Given the description of an element on the screen output the (x, y) to click on. 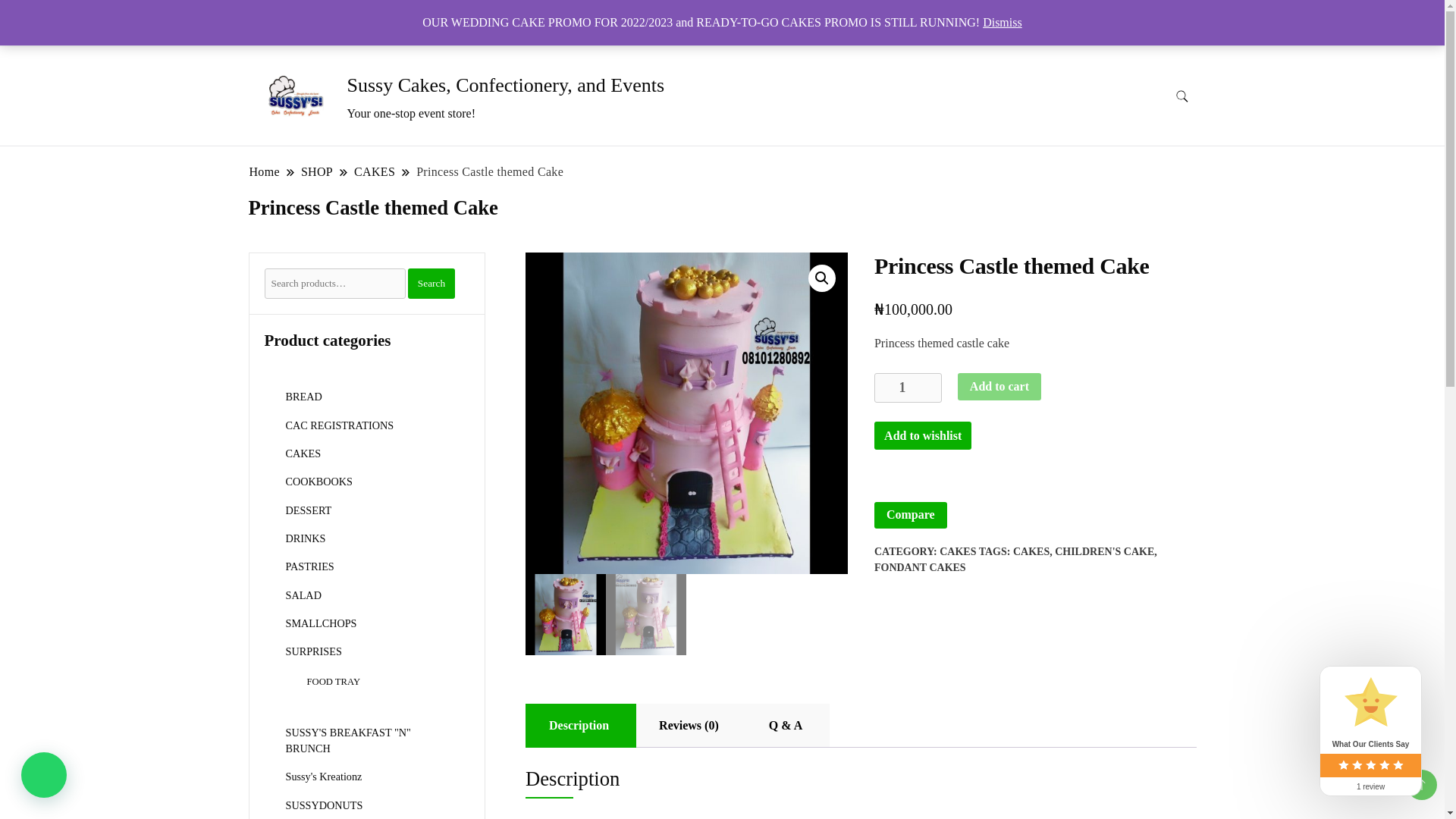
Contact Us (646, 11)
Cart (529, 11)
Home (264, 171)
My account (764, 11)
CAKES (374, 171)
Compare (911, 515)
PayPal (1035, 484)
1 (908, 387)
Privacy Policy (841, 11)
Checkout (580, 11)
